Given the description of an element on the screen output the (x, y) to click on. 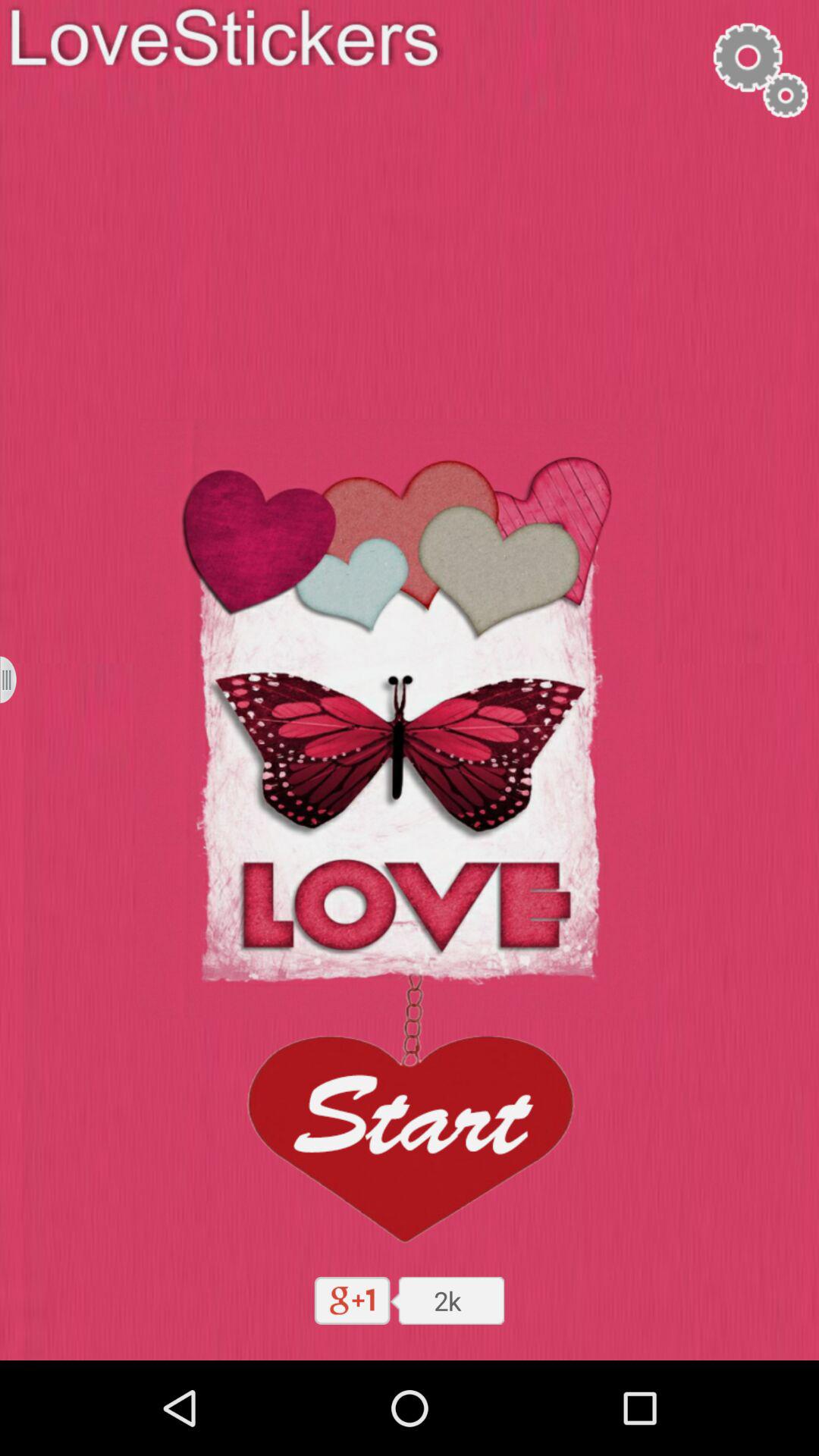
access settings (759, 69)
